Given the description of an element on the screen output the (x, y) to click on. 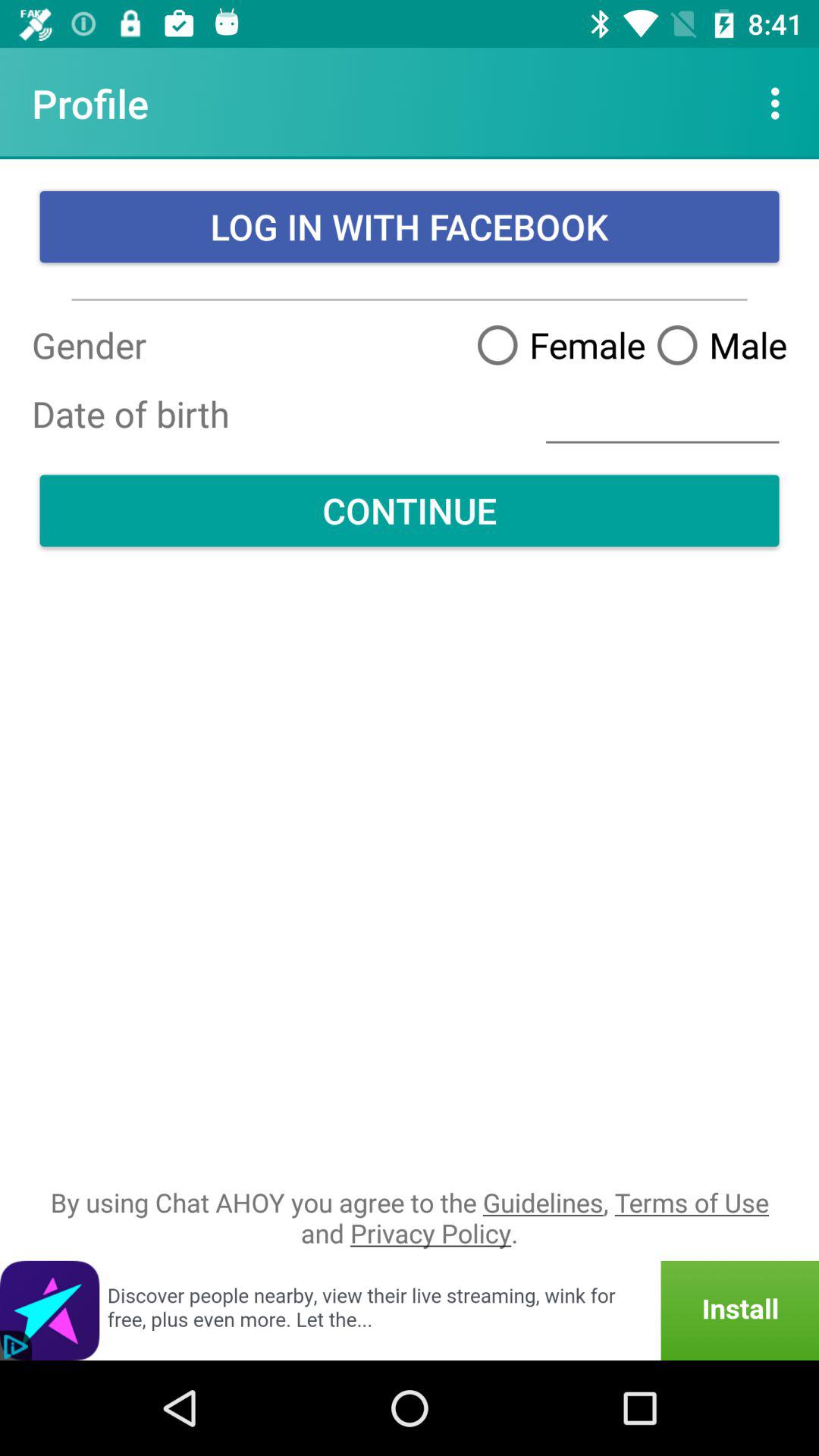
press the item to the left of male item (555, 344)
